Given the description of an element on the screen output the (x, y) to click on. 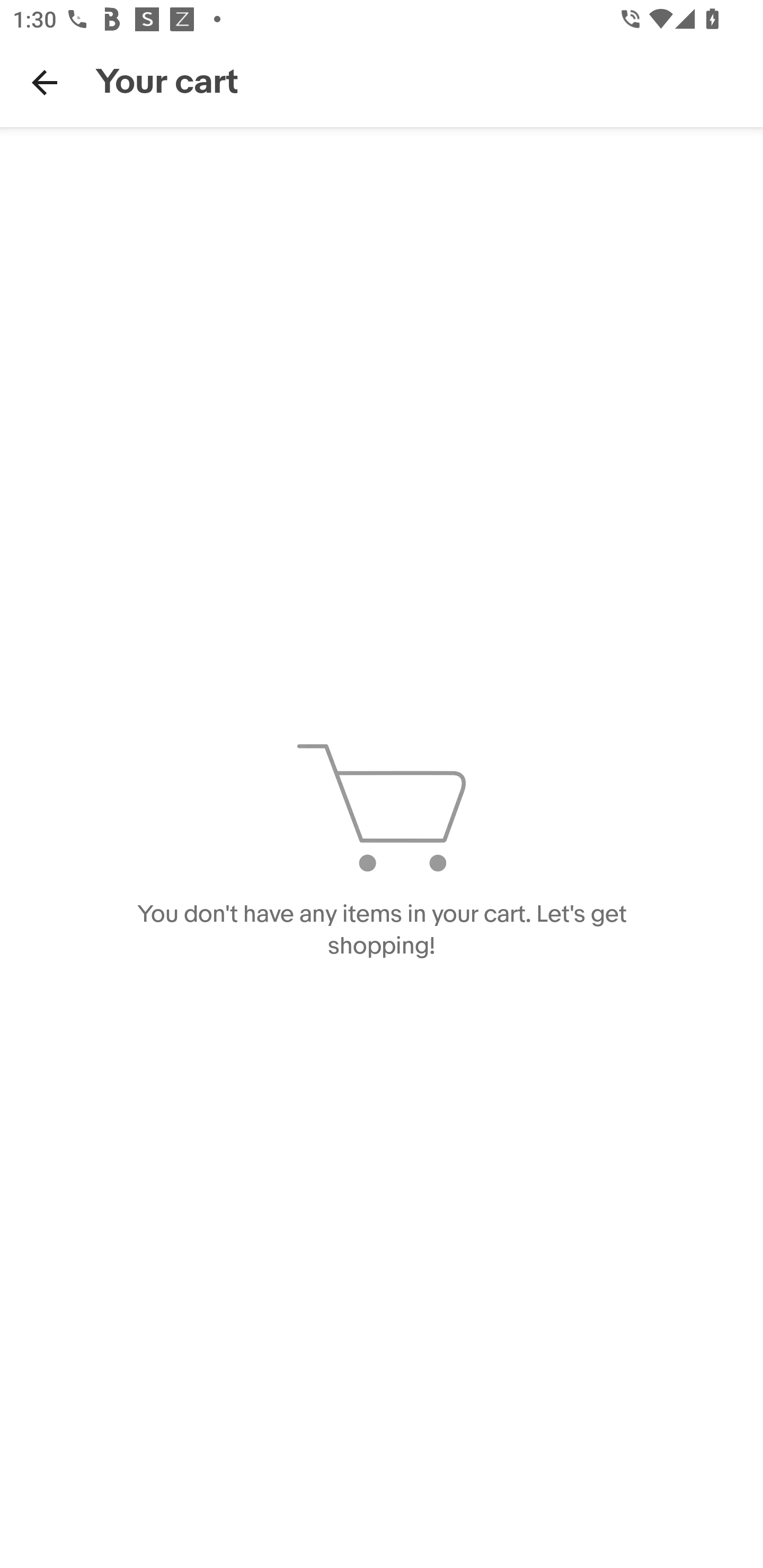
Navigate up (44, 82)
